Given the description of an element on the screen output the (x, y) to click on. 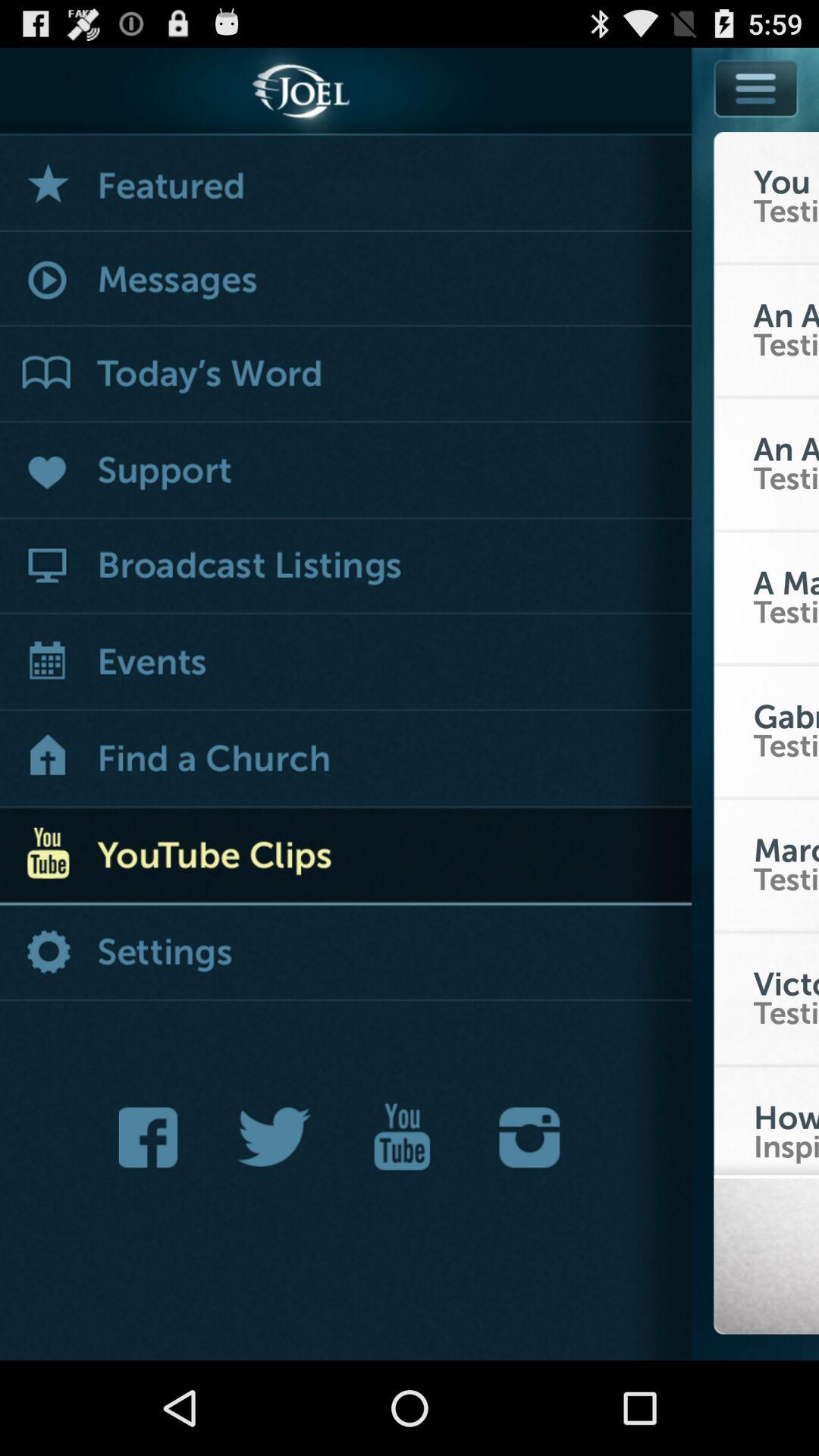
go to the word list (345, 375)
